Given the description of an element on the screen output the (x, y) to click on. 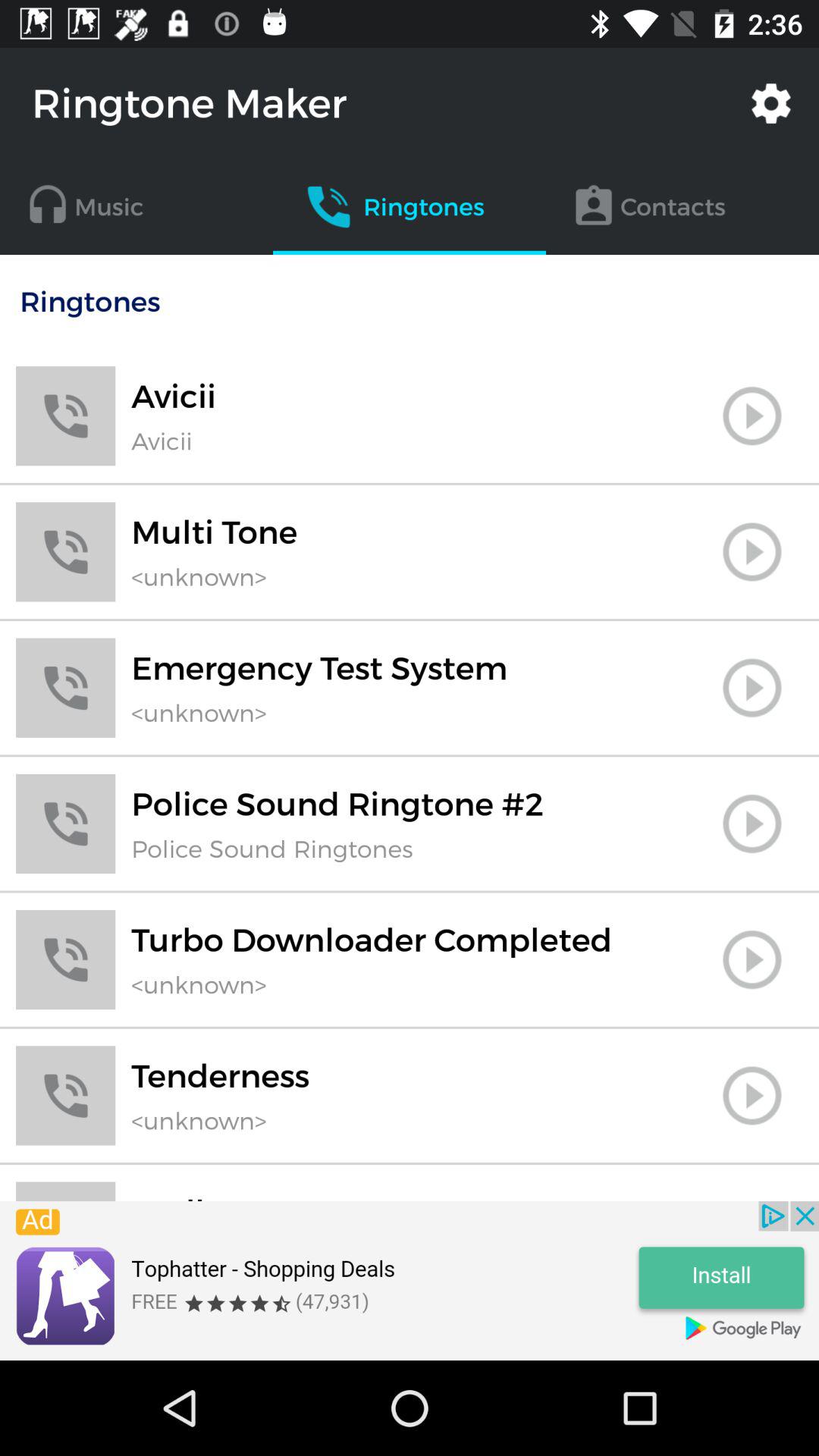
decrment button (752, 1198)
